Given the description of an element on the screen output the (x, y) to click on. 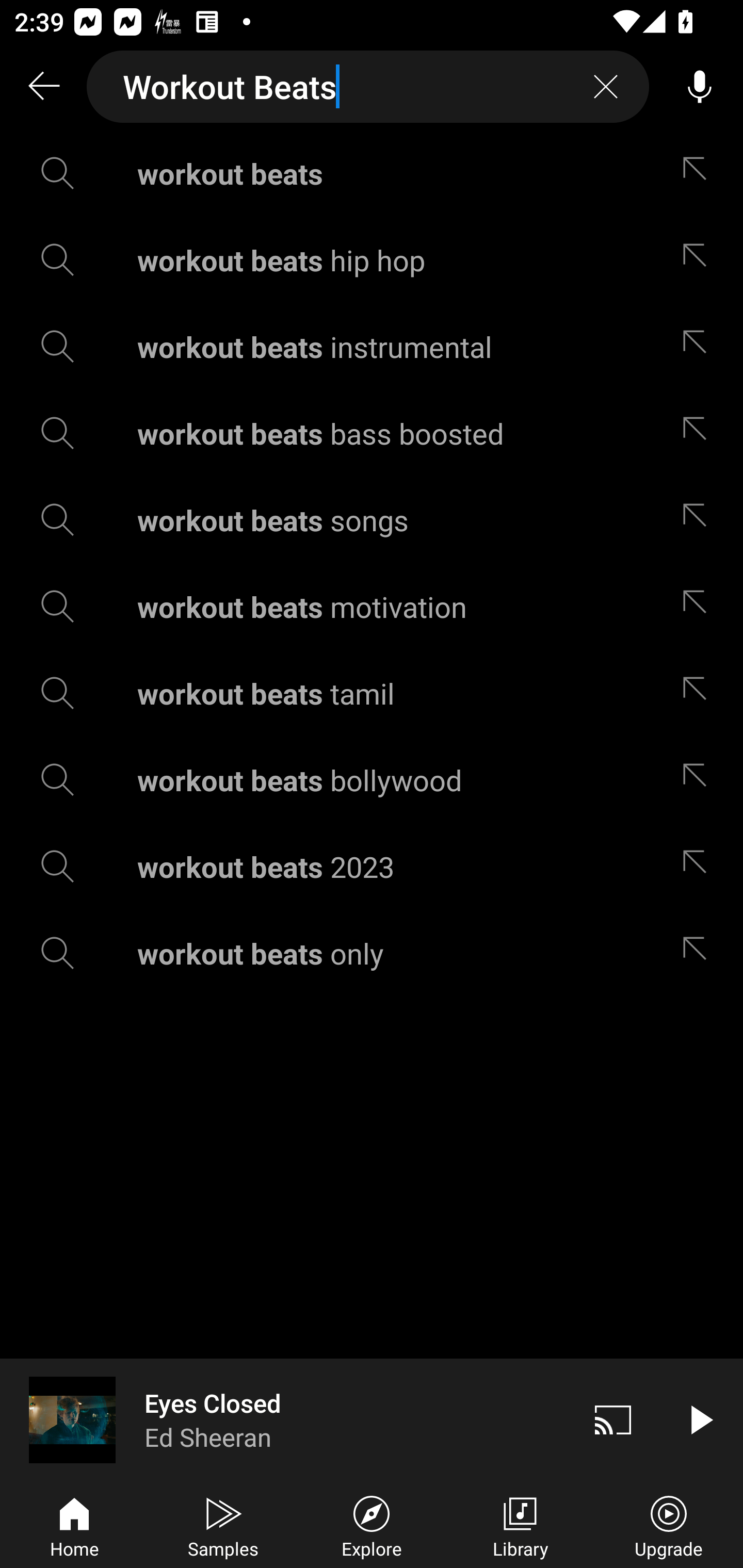
Search back (43, 86)
Workout Beats (367, 86)
Clear search (605, 86)
Voice search (699, 86)
workout beats Edit suggestion workout beats (371, 173)
Edit suggestion workout beats (699, 173)
Edit suggestion workout beats hip hop (699, 259)
Edit suggestion workout beats instrumental (699, 346)
Edit suggestion workout beats bass boosted (699, 433)
Edit suggestion workout beats songs (699, 519)
Edit suggestion workout beats motivation (699, 605)
Edit suggestion workout beats tamil (699, 692)
Edit suggestion workout beats bollywood (699, 779)
Edit suggestion workout beats 2023 (699, 866)
Edit suggestion workout beats only (699, 953)
Eyes Closed Ed Sheeran (284, 1419)
Cast. Disconnected (612, 1419)
Play video (699, 1419)
Home (74, 1524)
Samples (222, 1524)
Explore (371, 1524)
Library (519, 1524)
Upgrade (668, 1524)
